Given the description of an element on the screen output the (x, y) to click on. 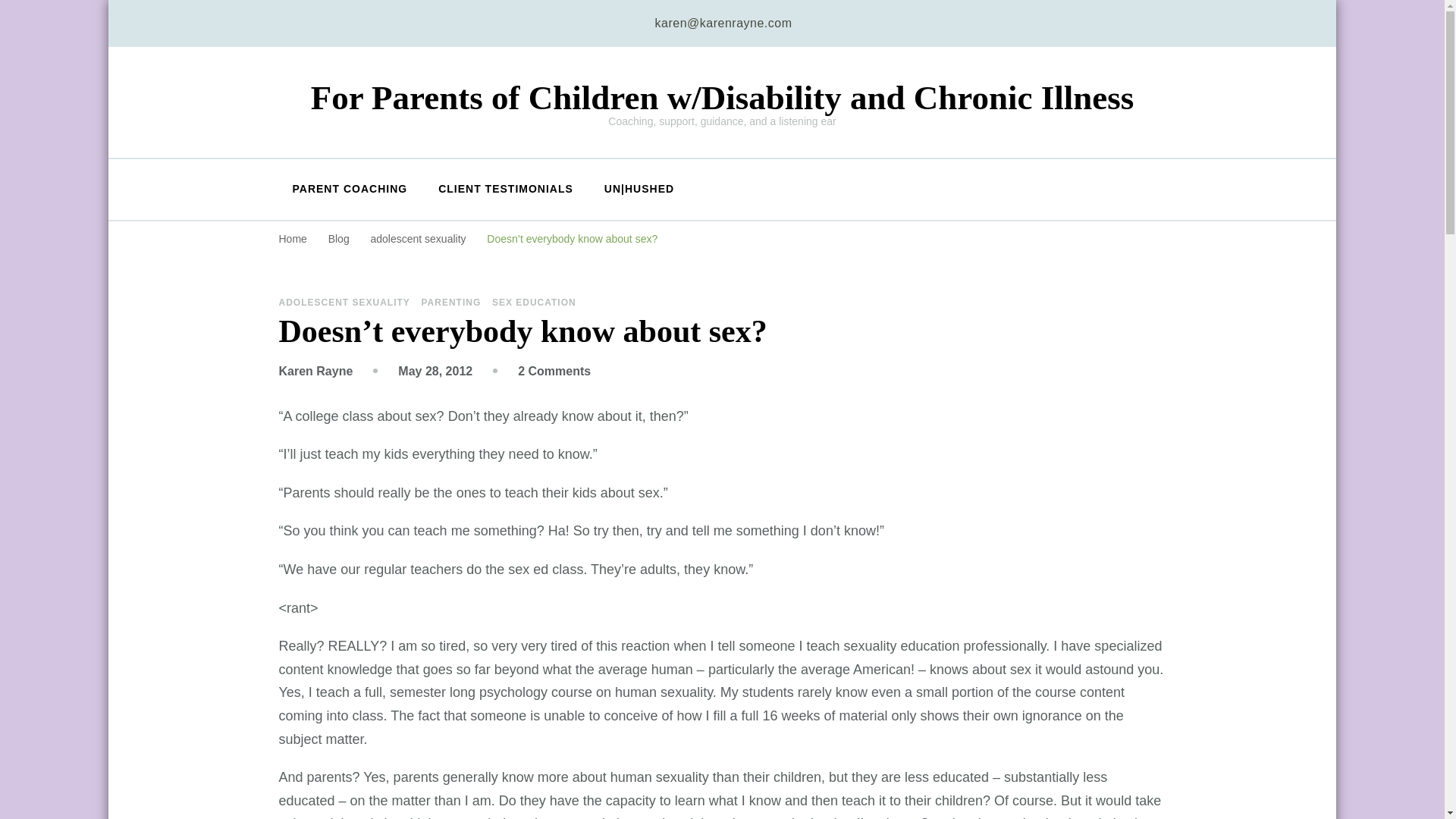
Home (293, 238)
adolescent sexuality (418, 238)
SEX EDUCATION (534, 302)
CLIENT TESTIMONIALS (505, 189)
PARENT COACHING (350, 189)
May 28, 2012 (434, 370)
ADOLESCENT SEXUALITY (344, 302)
PARENTING (450, 302)
Karen Rayne (316, 370)
Blog (340, 238)
